Given the description of an element on the screen output the (x, y) to click on. 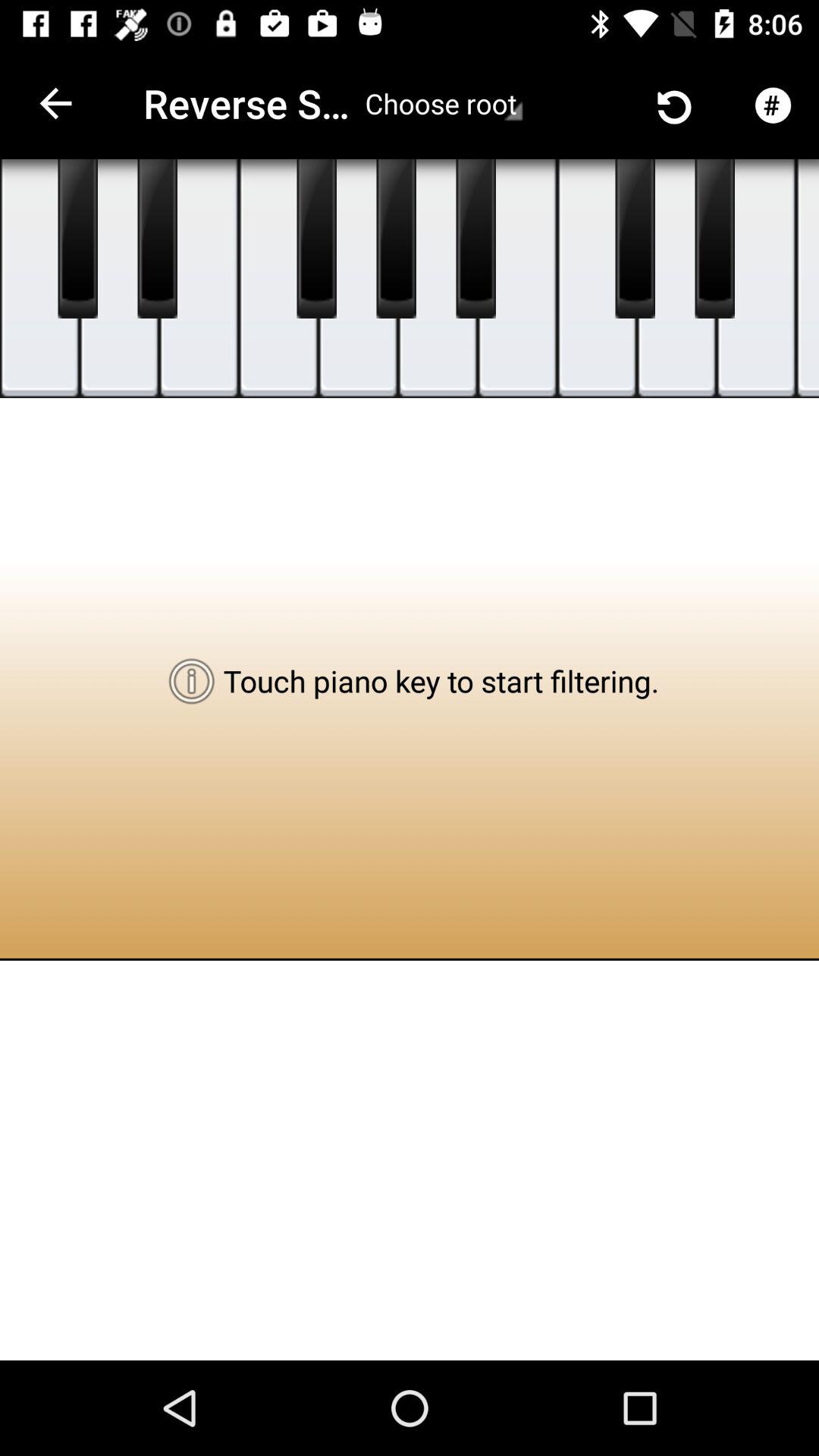
click the item below reverse scale lookup app (358, 278)
